Given the description of an element on the screen output the (x, y) to click on. 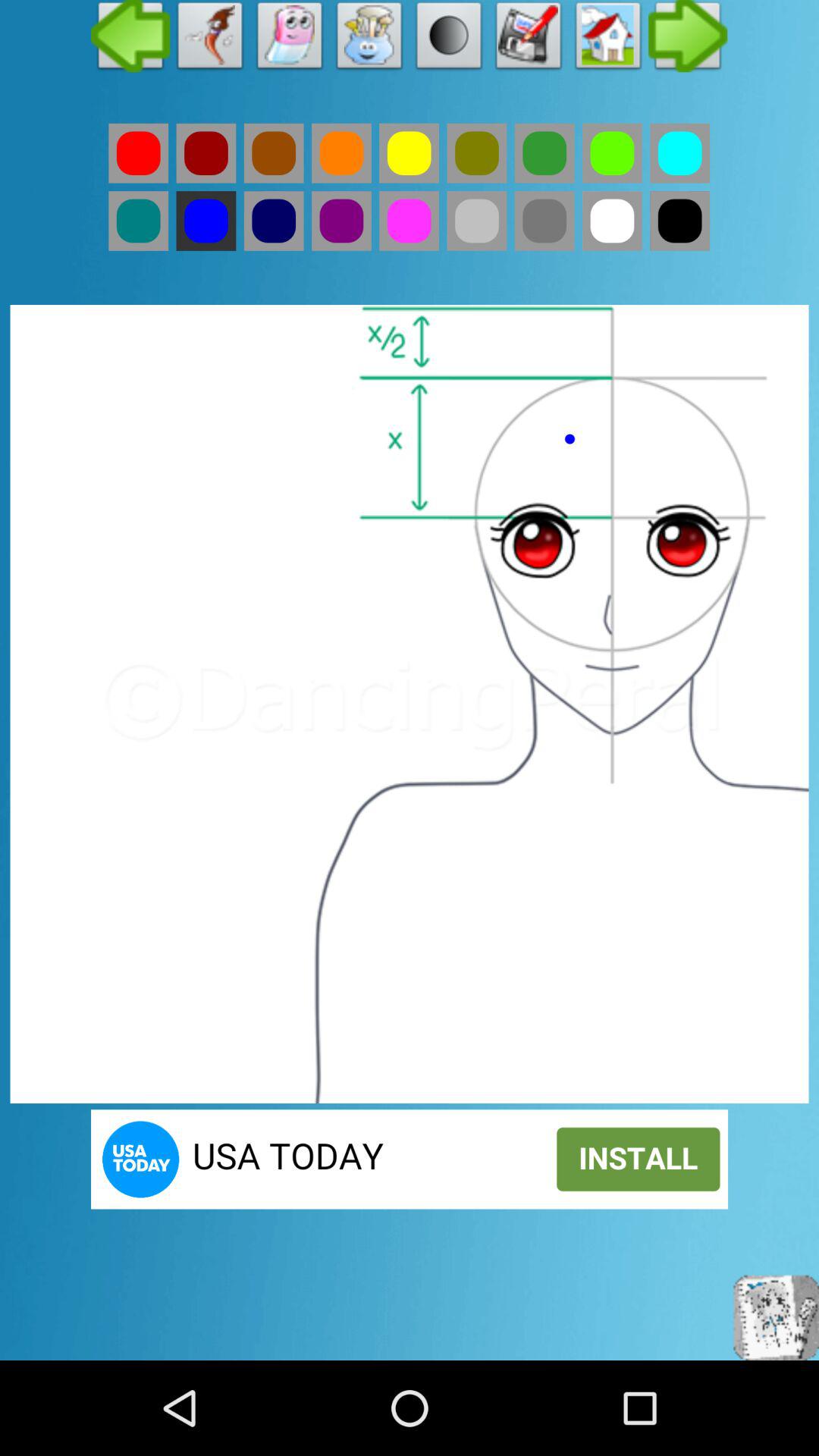
click the black circle (449, 39)
